Given the description of an element on the screen output the (x, y) to click on. 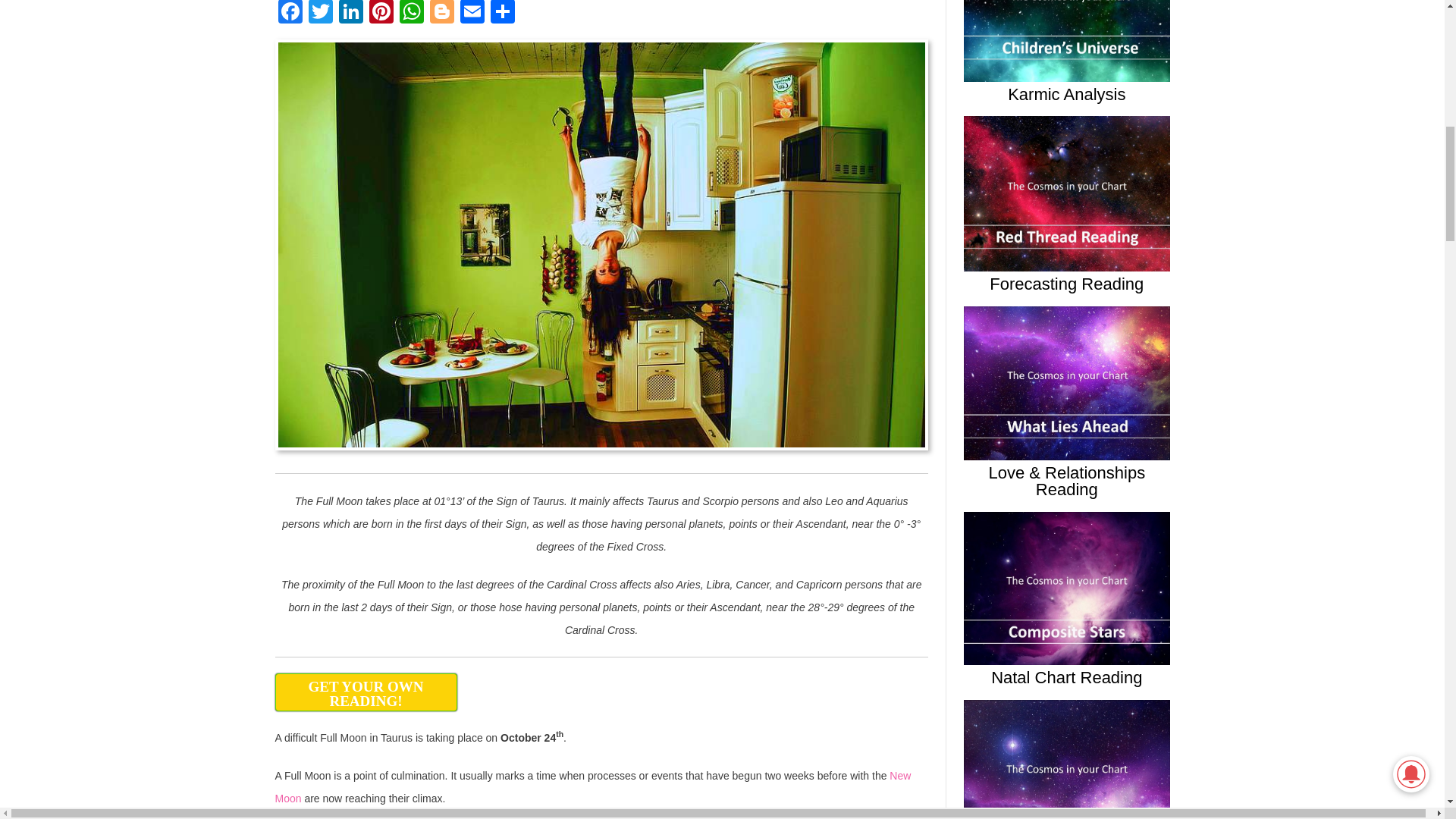
LinkedIn (349, 13)
WhatsApp (411, 13)
Email (471, 13)
Facebook (289, 13)
Blogger (441, 13)
Twitter (319, 13)
Pinterest (380, 13)
Share (501, 13)
Blogger (441, 13)
Email (471, 13)
Pinterest (380, 13)
Facebook (289, 13)
LinkedIn (349, 13)
Twitter (319, 13)
GET YOUR READING! (366, 692)
